Given the description of an element on the screen output the (x, y) to click on. 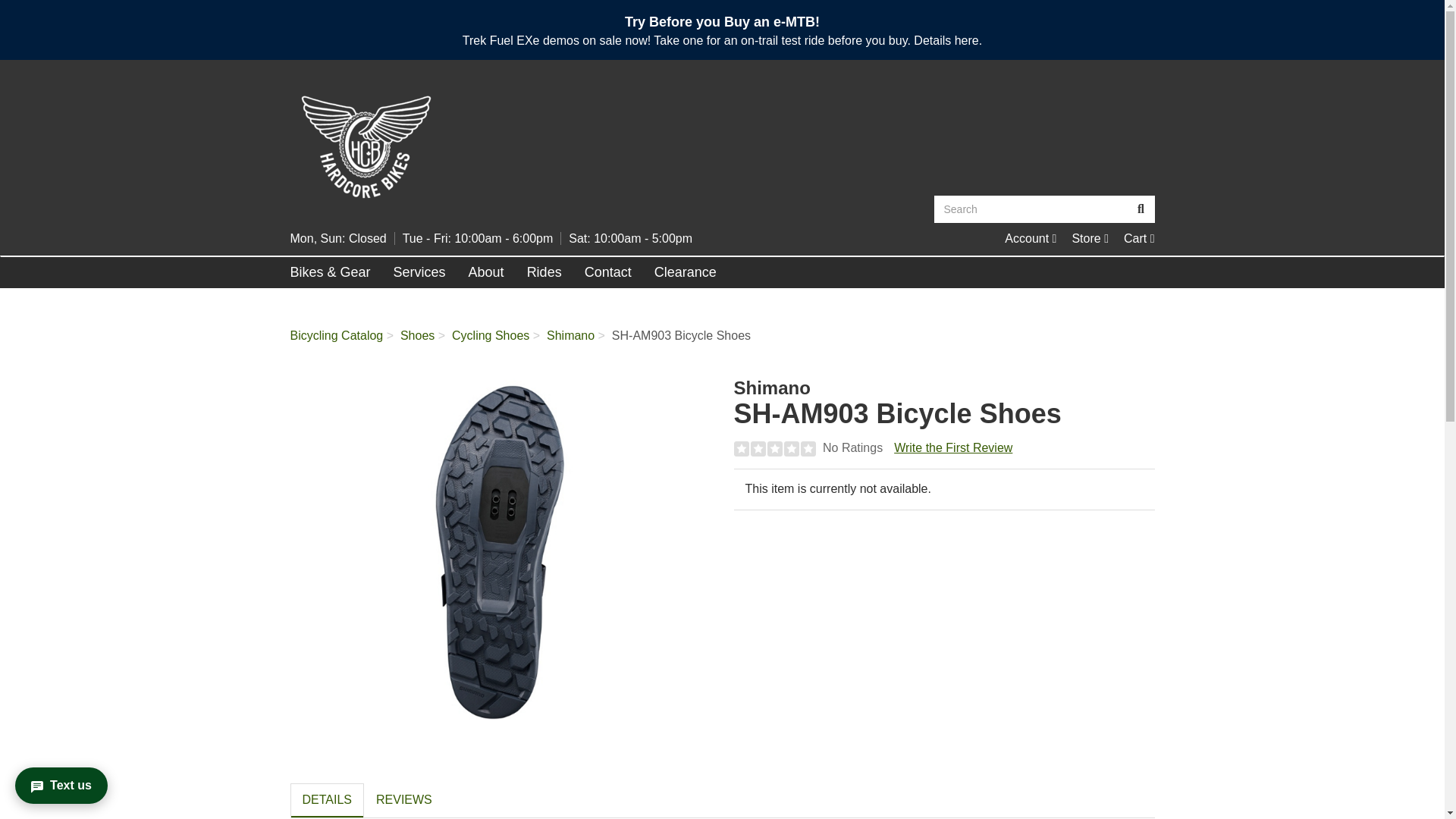
Cart (1139, 237)
here (966, 40)
Store (1089, 237)
Trek Fuel EXe 2024 Test Ride Page (966, 40)
Account (1030, 237)
Search (1140, 208)
Search (1031, 208)
Hardcore Bikes Home Page (499, 146)
Webchat Widget (79, 777)
